Given the description of an element on the screen output the (x, y) to click on. 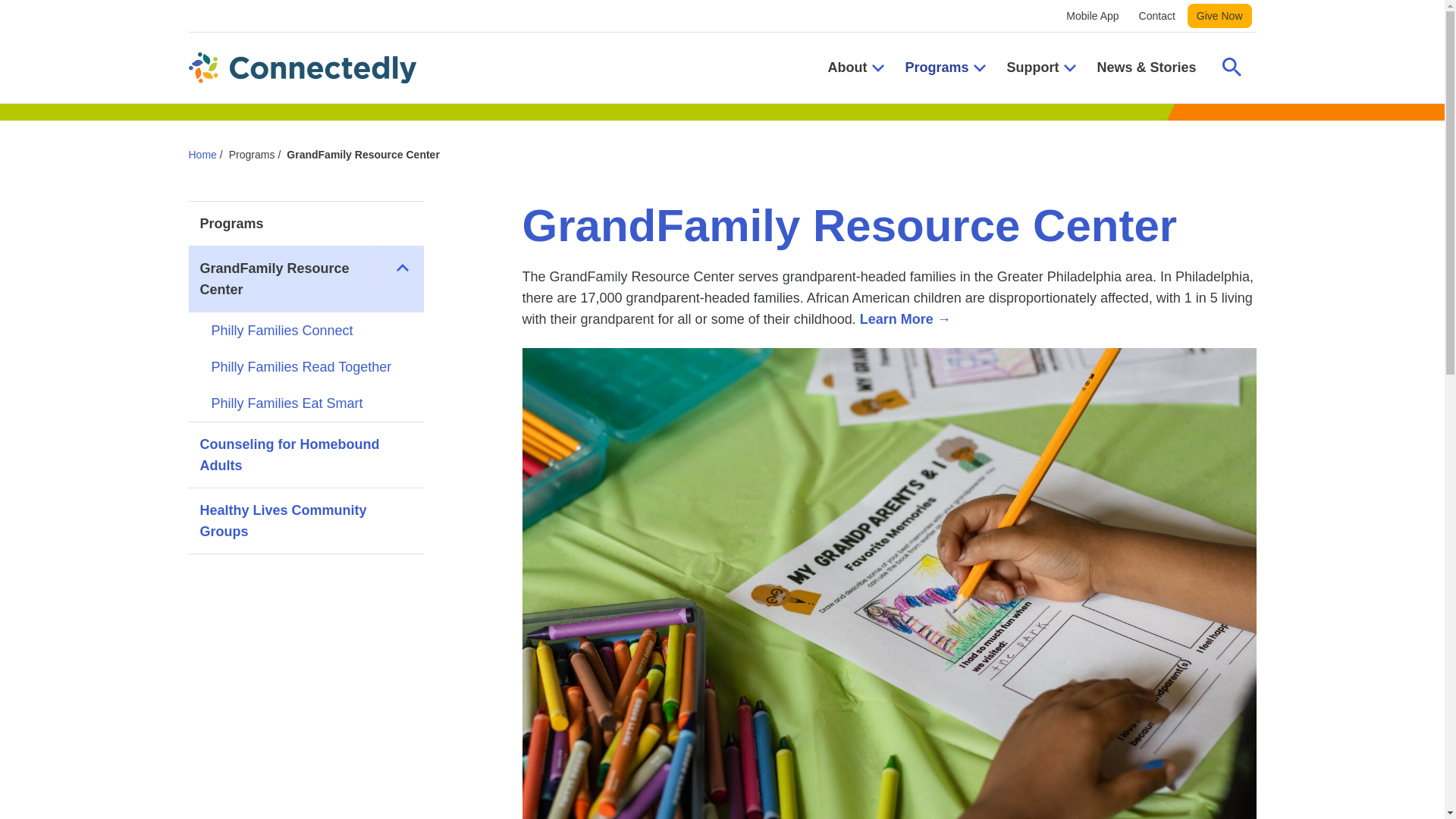
Mobile App (1091, 15)
Give Now (1220, 15)
About (854, 67)
Programs (943, 67)
Support (1039, 67)
Contact (1156, 15)
